Given the description of an element on the screen output the (x, y) to click on. 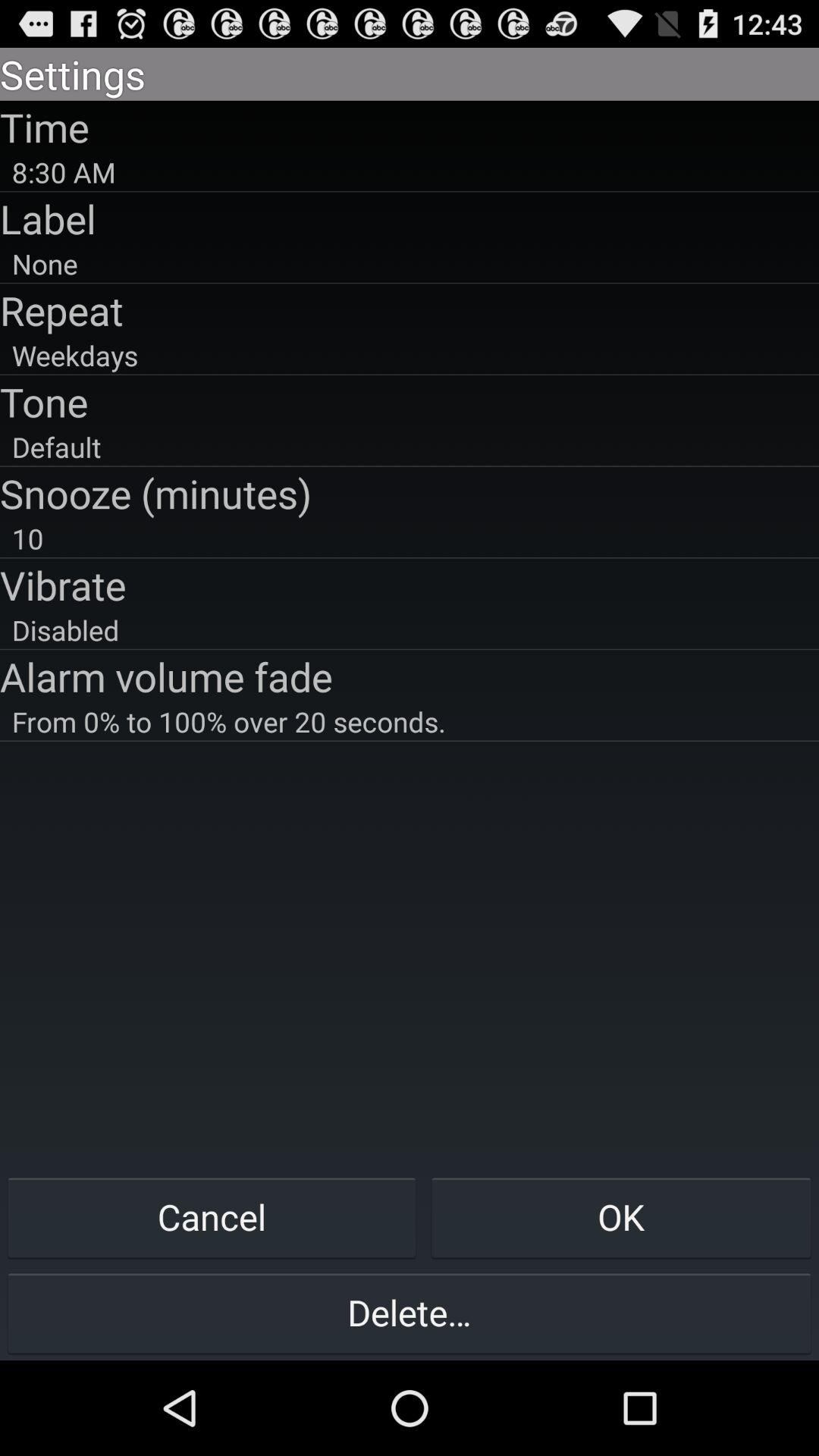
press item above the vibrate (409, 538)
